Given the description of an element on the screen output the (x, y) to click on. 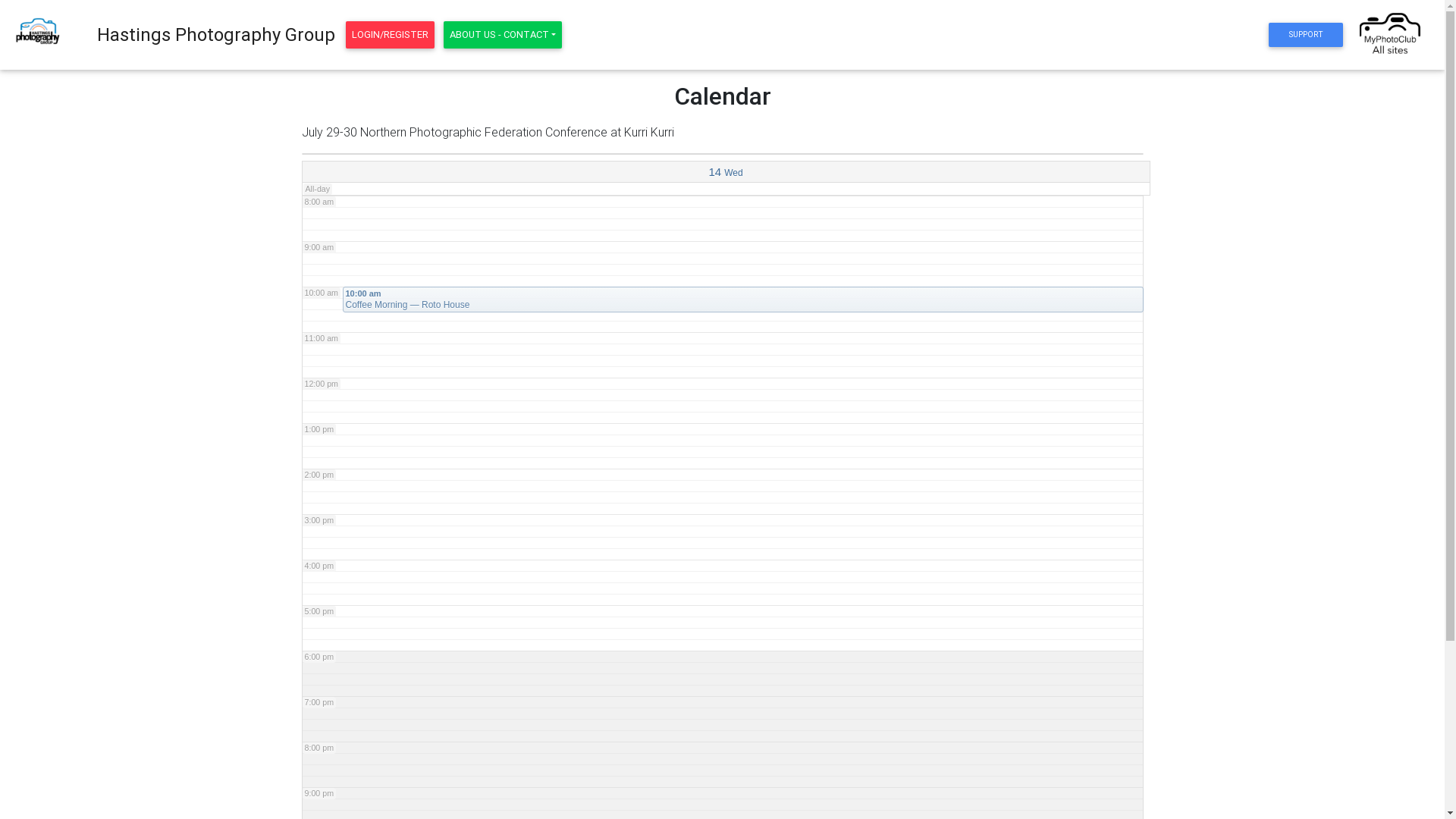
14 Wed Element type: text (726, 172)
ABOUT US - CONTACT Element type: text (502, 34)
Calendar Element type: text (721, 95)
LOGIN/REGISTER Element type: text (389, 34)
Hastings Photography Group Element type: text (216, 35)
SUPPORT Element type: text (1305, 34)
